Given the description of an element on the screen output the (x, y) to click on. 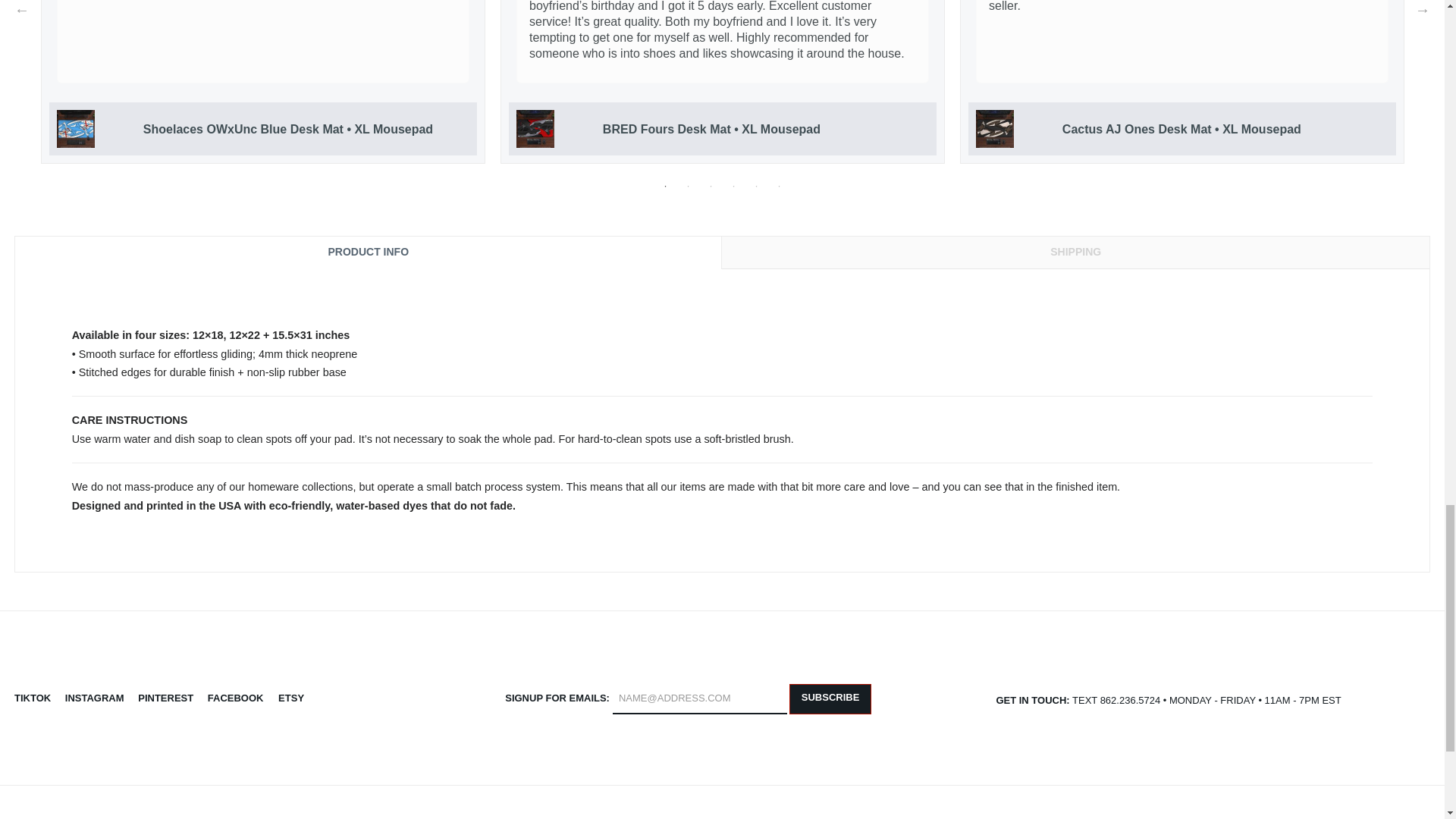
SUBSCRIBE (829, 698)
Previous (21, 9)
